Given the description of an element on the screen output the (x, y) to click on. 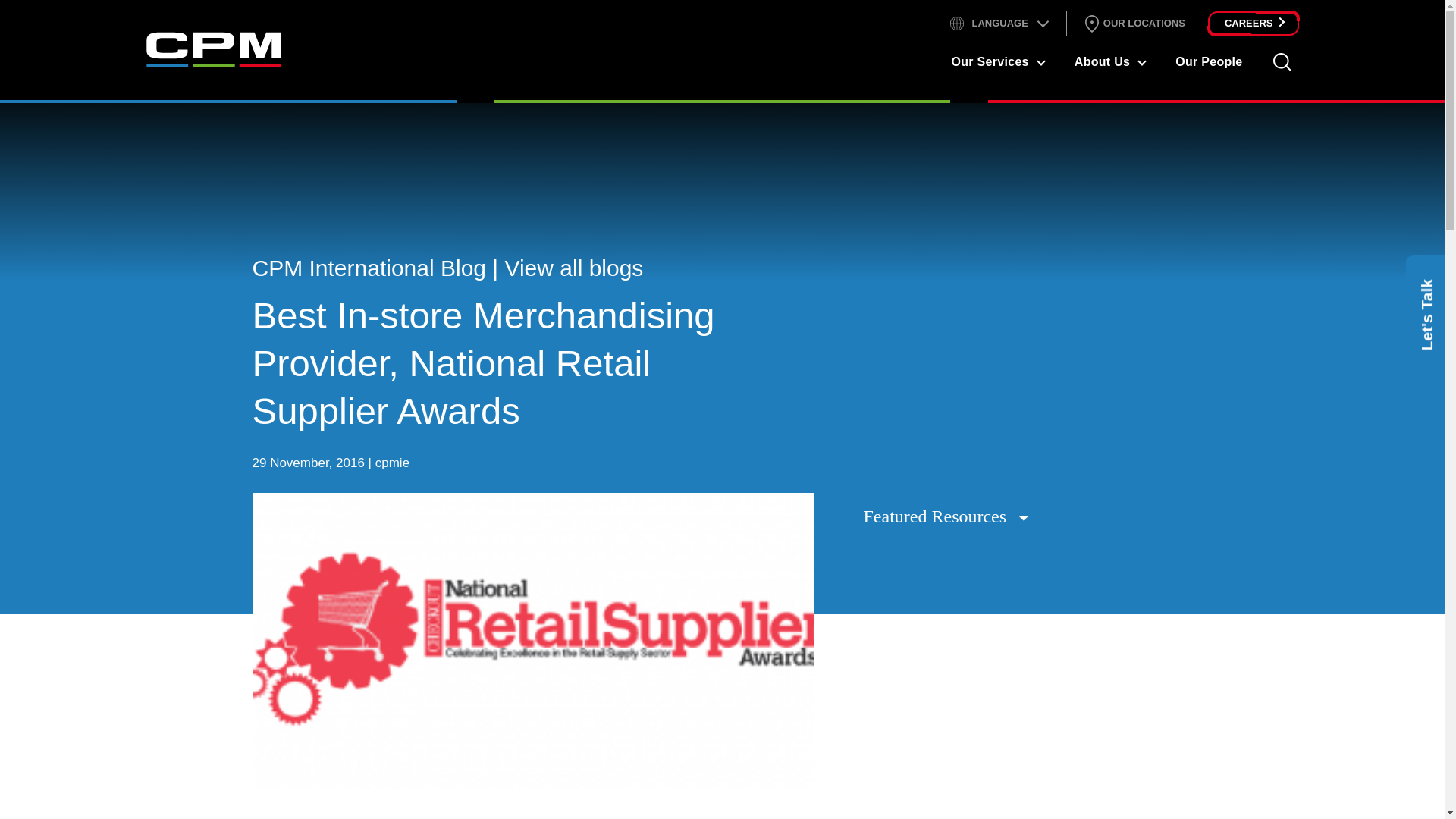
OUR LOCATIONS (1133, 23)
Our Services (990, 61)
CPM Logo (213, 49)
Our People (1207, 61)
About Us (1101, 61)
CAREERS (1253, 23)
